Given the description of an element on the screen output the (x, y) to click on. 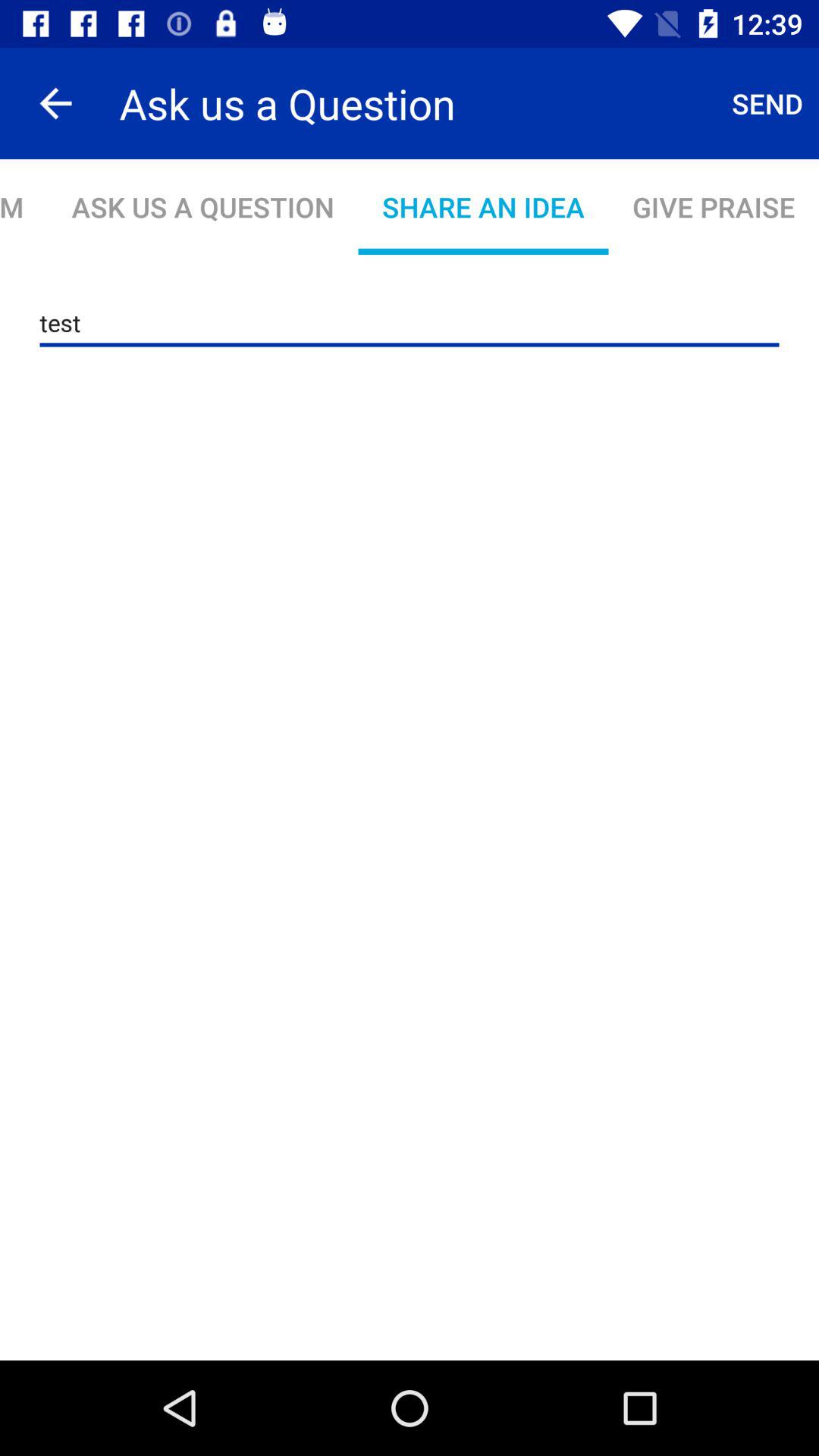
select the icon below report a problem item (409, 323)
